Given the description of an element on the screen output the (x, y) to click on. 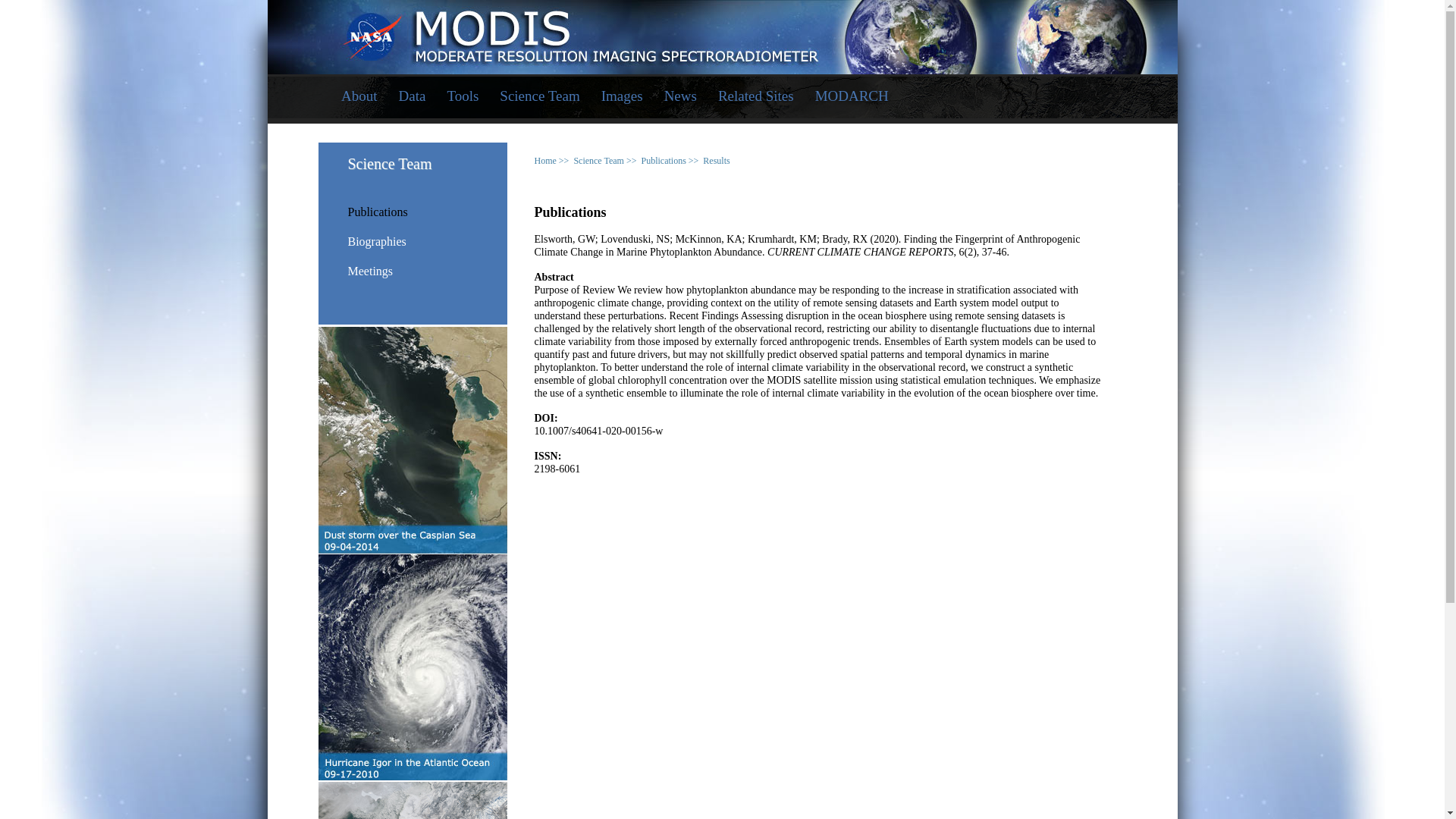
Data (412, 96)
Link To NASA website (722, 28)
About (358, 96)
